Given the description of an element on the screen output the (x, y) to click on. 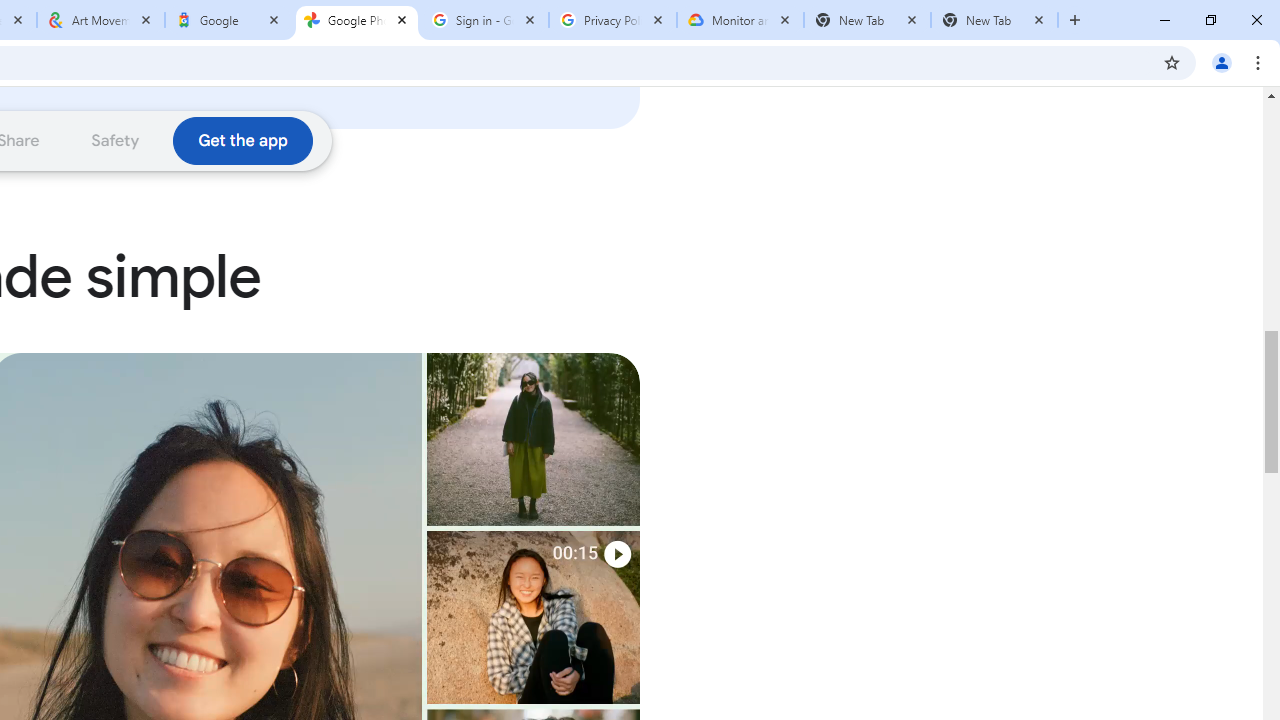
Go to section: Safety (115, 140)
